Given the description of an element on the screen output the (x, y) to click on. 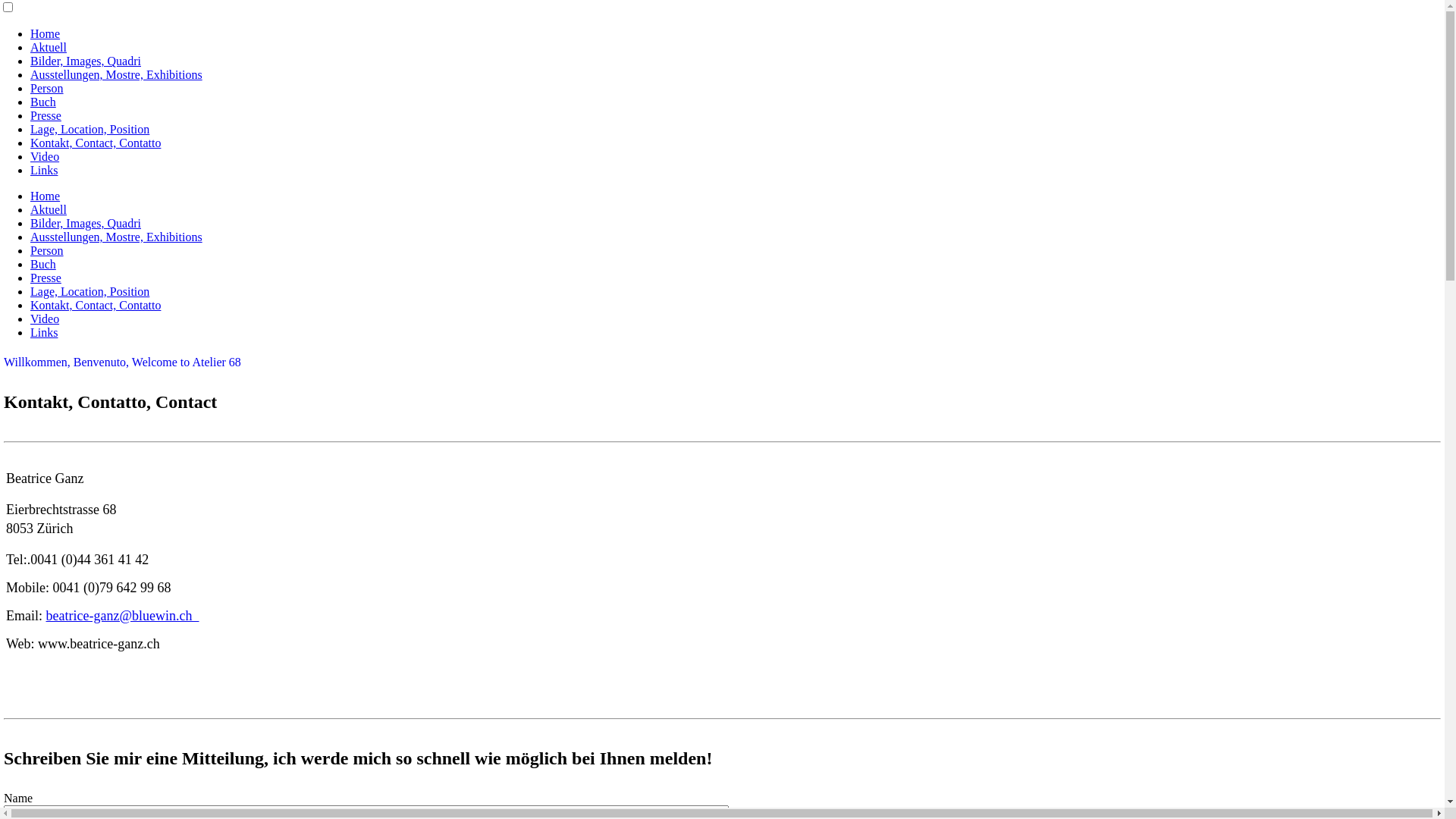
Video Element type: text (44, 156)
Links Element type: text (43, 332)
Lage, Location, Position Element type: text (89, 128)
Presse Element type: text (45, 277)
Lage, Location, Position Element type: text (89, 291)
Ausstellungen, Mostre, Exhibitions Element type: text (116, 236)
Aktuell Element type: text (48, 209)
Bilder, Images, Quadri Element type: text (85, 60)
Bilder, Images, Quadri Element type: text (85, 222)
Willkommen, Benvenuto, Welcome to Atelier 68 Element type: text (122, 361)
Presse Element type: text (45, 115)
Person Element type: text (46, 87)
Links Element type: text (43, 169)
Home Element type: text (44, 33)
beatrice-ganz@bluewin.ch   Element type: text (121, 615)
Home Element type: text (44, 195)
Person Element type: text (46, 250)
Aktuell Element type: text (48, 46)
Video Element type: text (44, 318)
Kontakt, Contact, Contatto Element type: text (95, 304)
Kontakt, Contact, Contatto Element type: text (95, 142)
Ausstellungen, Mostre, Exhibitions Element type: text (116, 74)
Buch Element type: text (43, 101)
Buch Element type: text (43, 263)
